Given the description of an element on the screen output the (x, y) to click on. 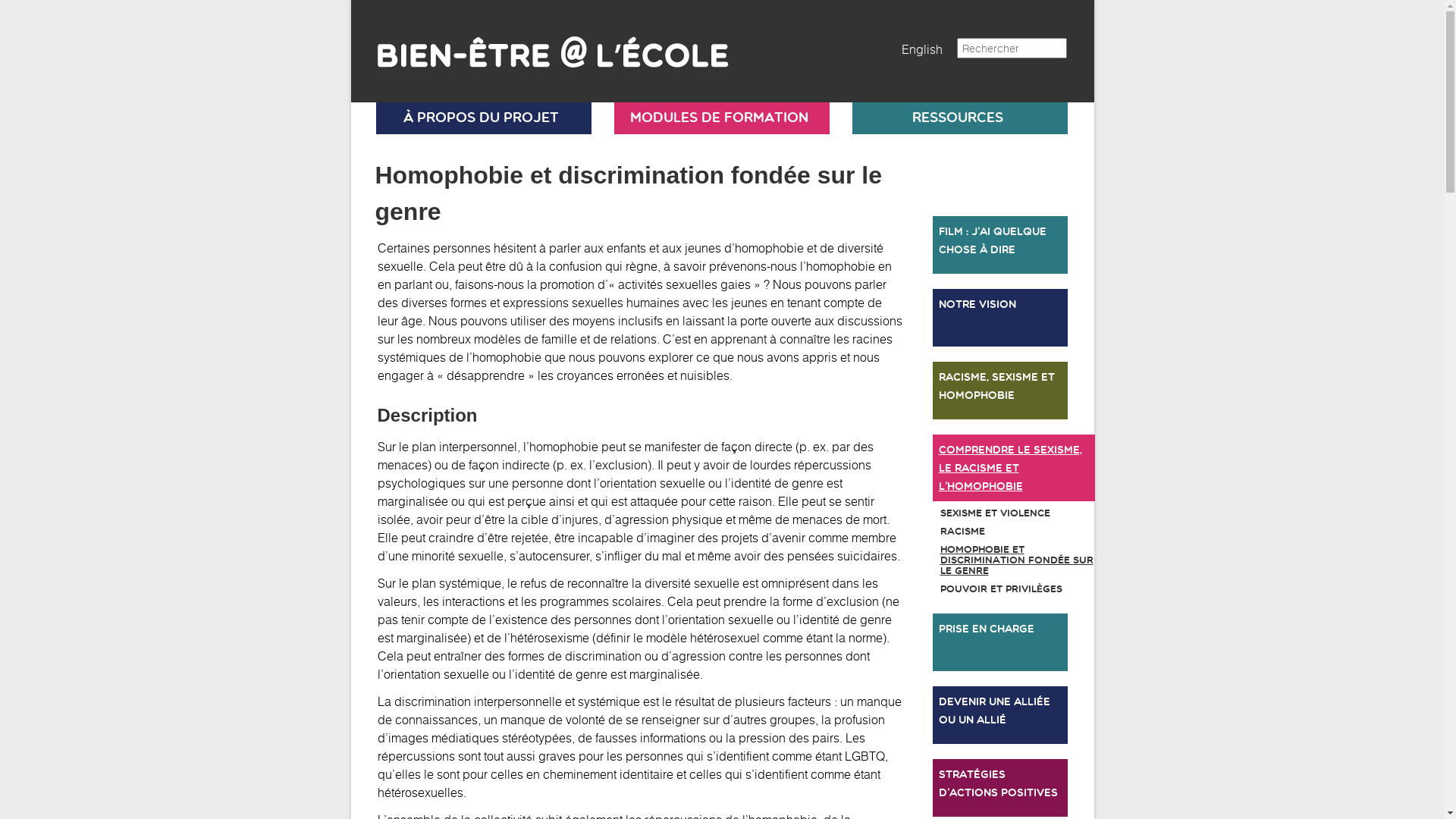
Sexisme et violence Element type: text (999, 513)
Notre vision Element type: text (999, 317)
Modules de formation Element type: text (719, 118)
Prise en charge Element type: text (999, 642)
English Element type: text (920, 48)
Skip to main Element type: text (350, 0)
Recherche Element type: text (36, 9)
Ressources Element type: text (957, 118)
Racisme, sexisme et homophobie Element type: text (999, 390)
Racisme Element type: text (999, 531)
Accueil Element type: hover (542, 45)
